Given the description of an element on the screen output the (x, y) to click on. 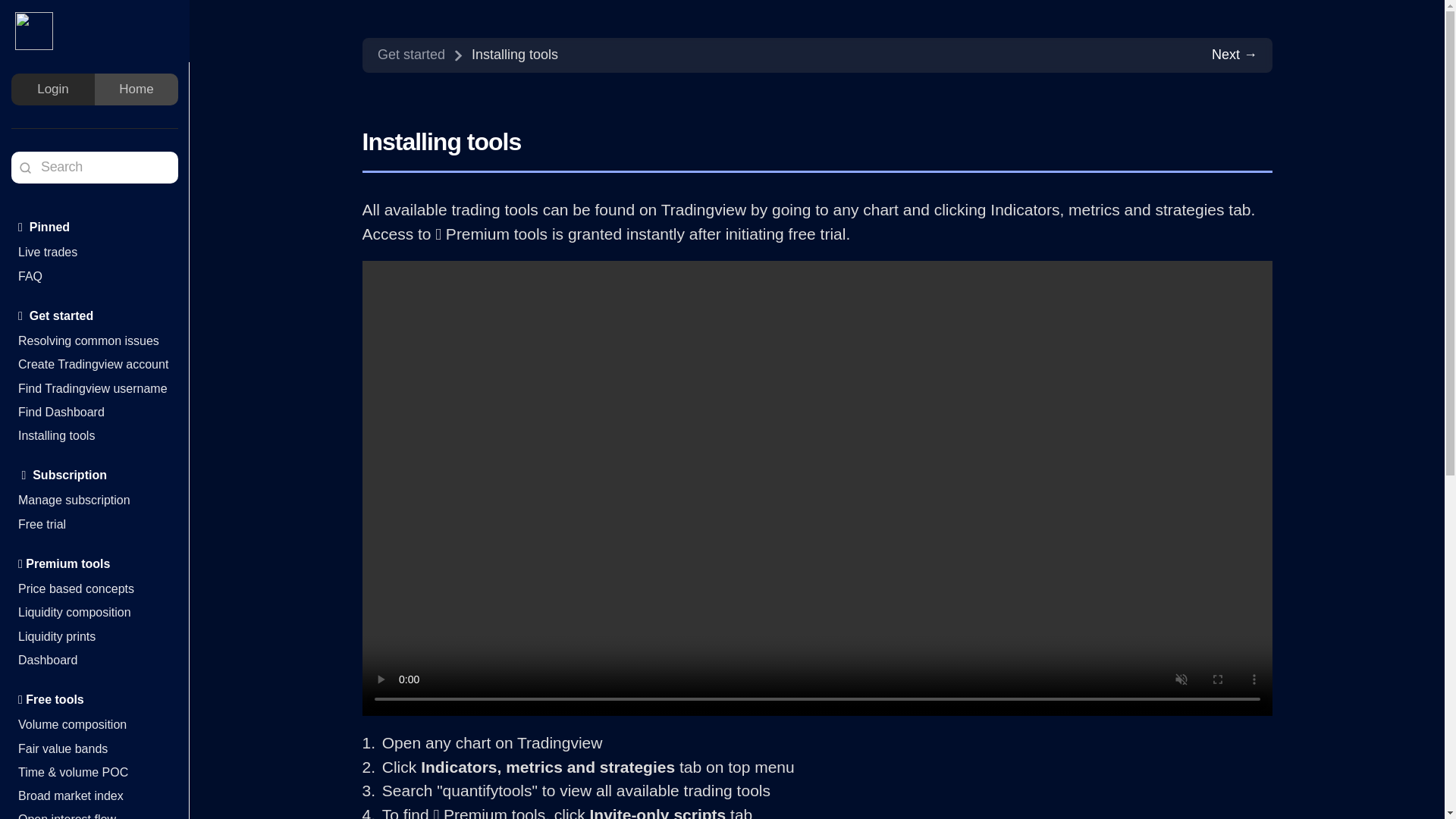
Volume composition (71, 724)
Free trial (41, 523)
Live trades (47, 251)
Manage subscription (74, 499)
Create Tradingview account (92, 364)
Liquidity prints (56, 635)
Login (52, 89)
Fair value bands (62, 748)
Open interest flow (66, 816)
FAQ (29, 276)
Find Tradingview username (92, 388)
Resolving common issues (87, 340)
Liquidity composition (74, 612)
Dashboard (47, 659)
Installing tools (55, 435)
